Given the description of an element on the screen output the (x, y) to click on. 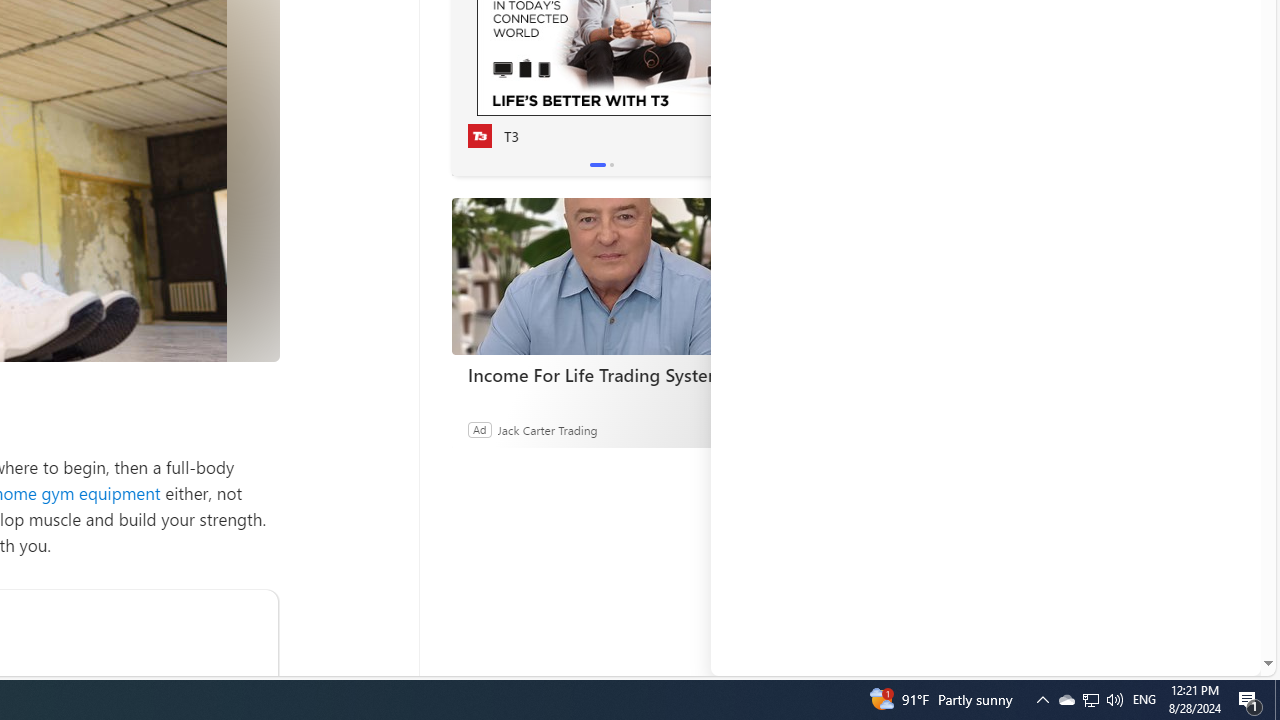
Feedback (1185, 659)
Jack Carter Trading (546, 429)
Income For Life Trading System (601, 276)
next (741, 42)
Income For Life Trading System (601, 374)
T3 (479, 135)
